Given the description of an element on the screen output the (x, y) to click on. 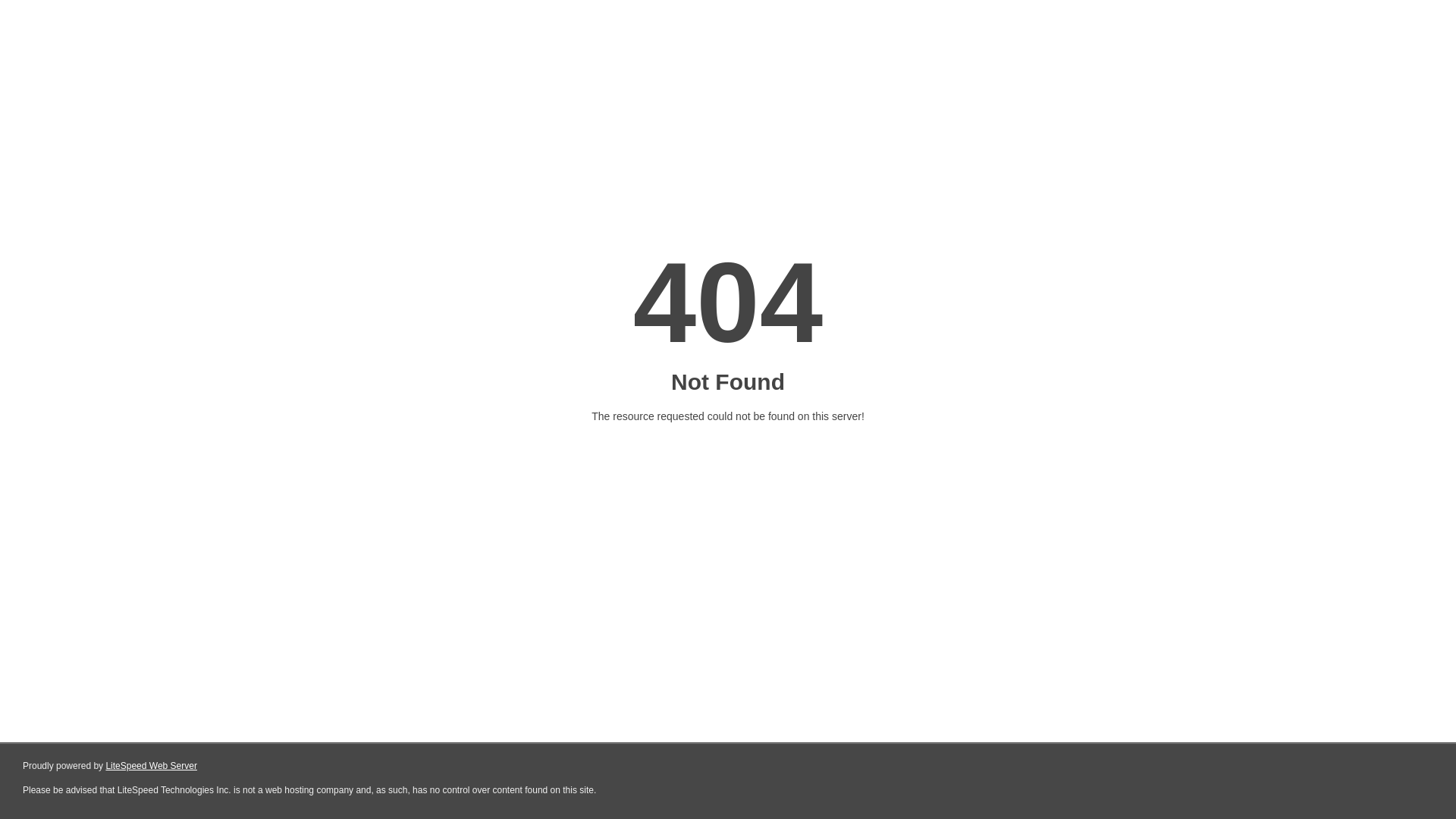
LiteSpeed Web Server Element type: text (151, 765)
